Given the description of an element on the screen output the (x, y) to click on. 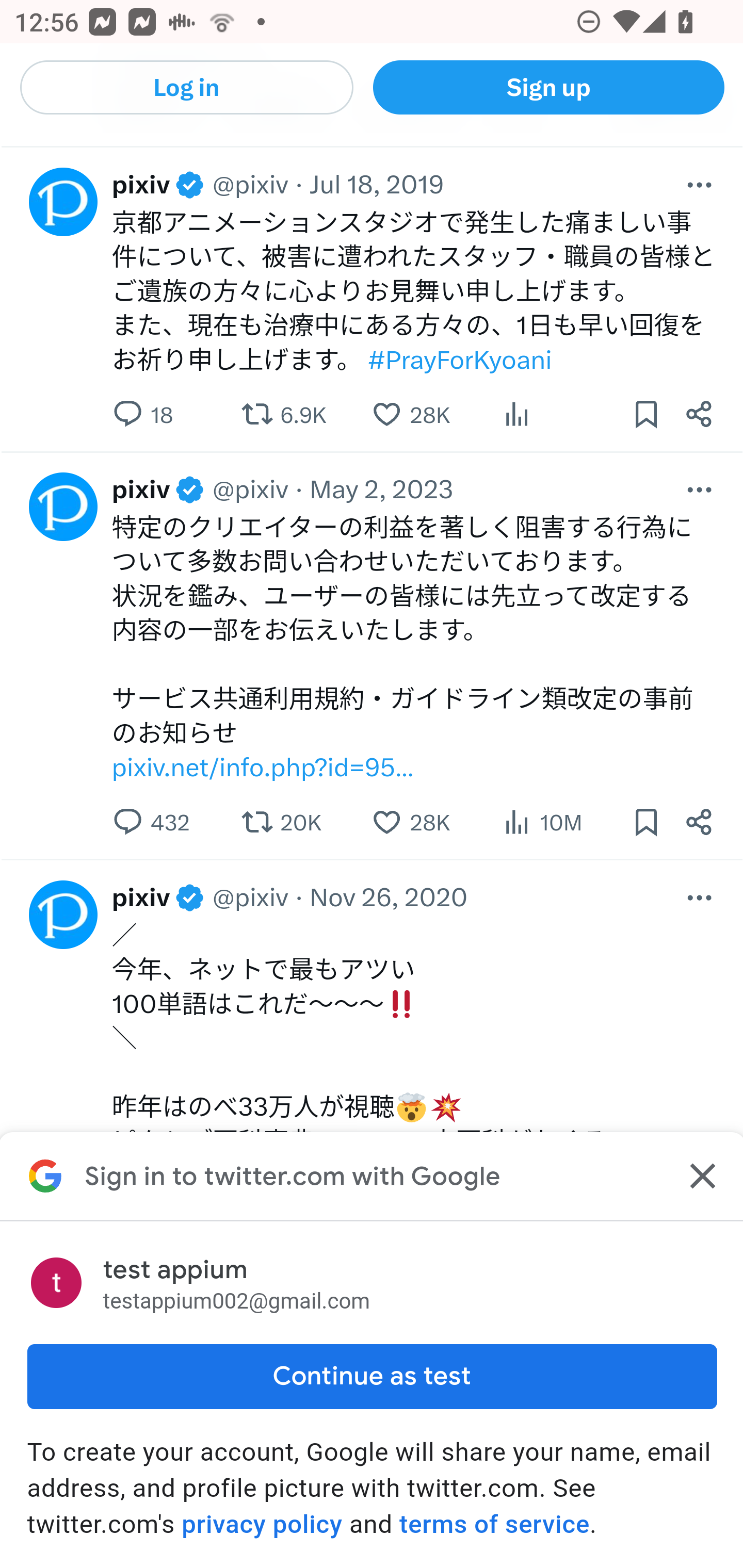
Close (700, 1176)
Continue as test (371, 1377)
privacy policy (261, 1523)
terms of service (493, 1523)
